Given the description of an element on the screen output the (x, y) to click on. 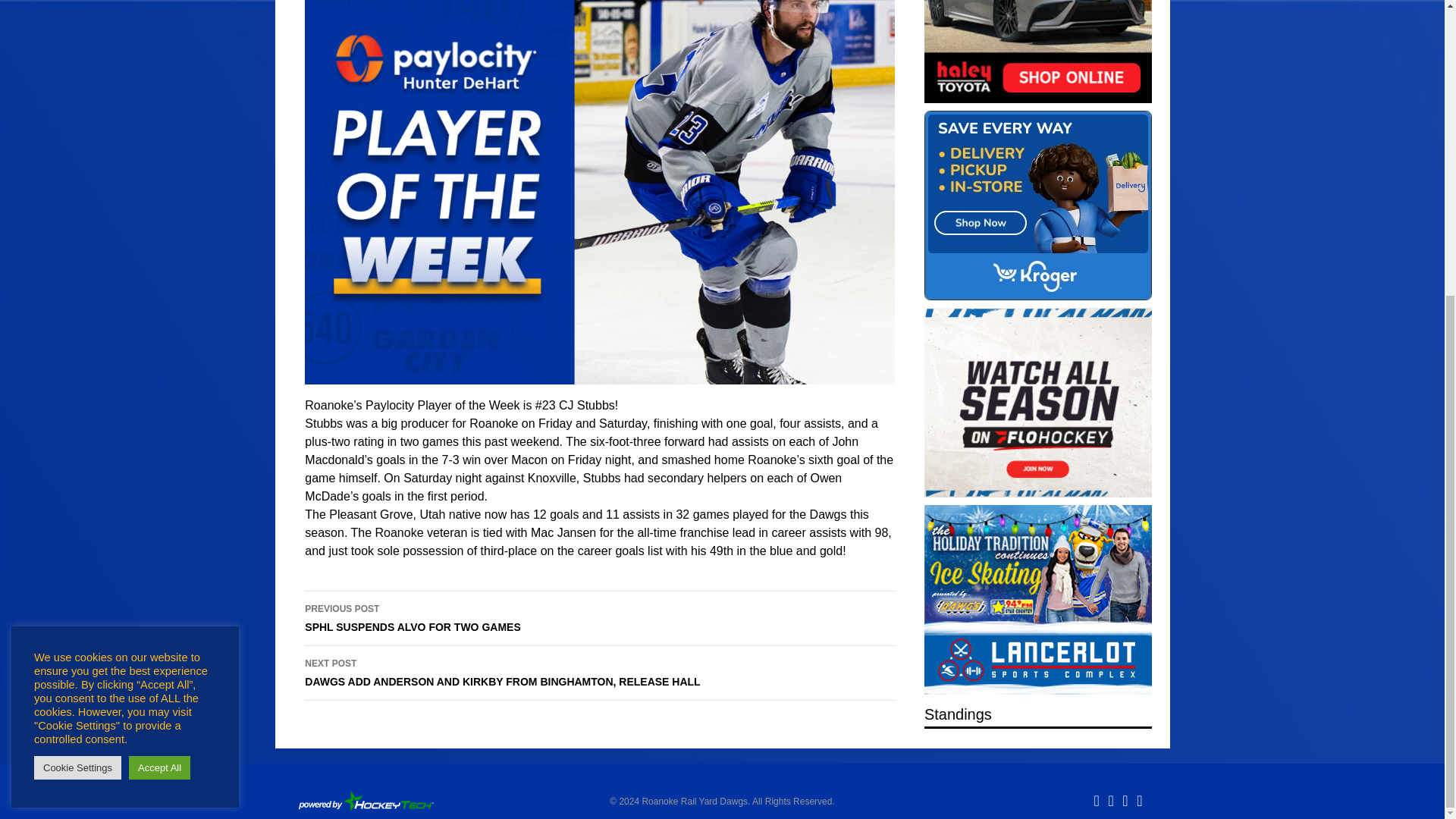
Haley Home Page Ad Updated 091123 copy (1037, 51)
PLAYER OF THE WEEK: CJ STUBBS (1037, 402)
